Given the description of an element on the screen output the (x, y) to click on. 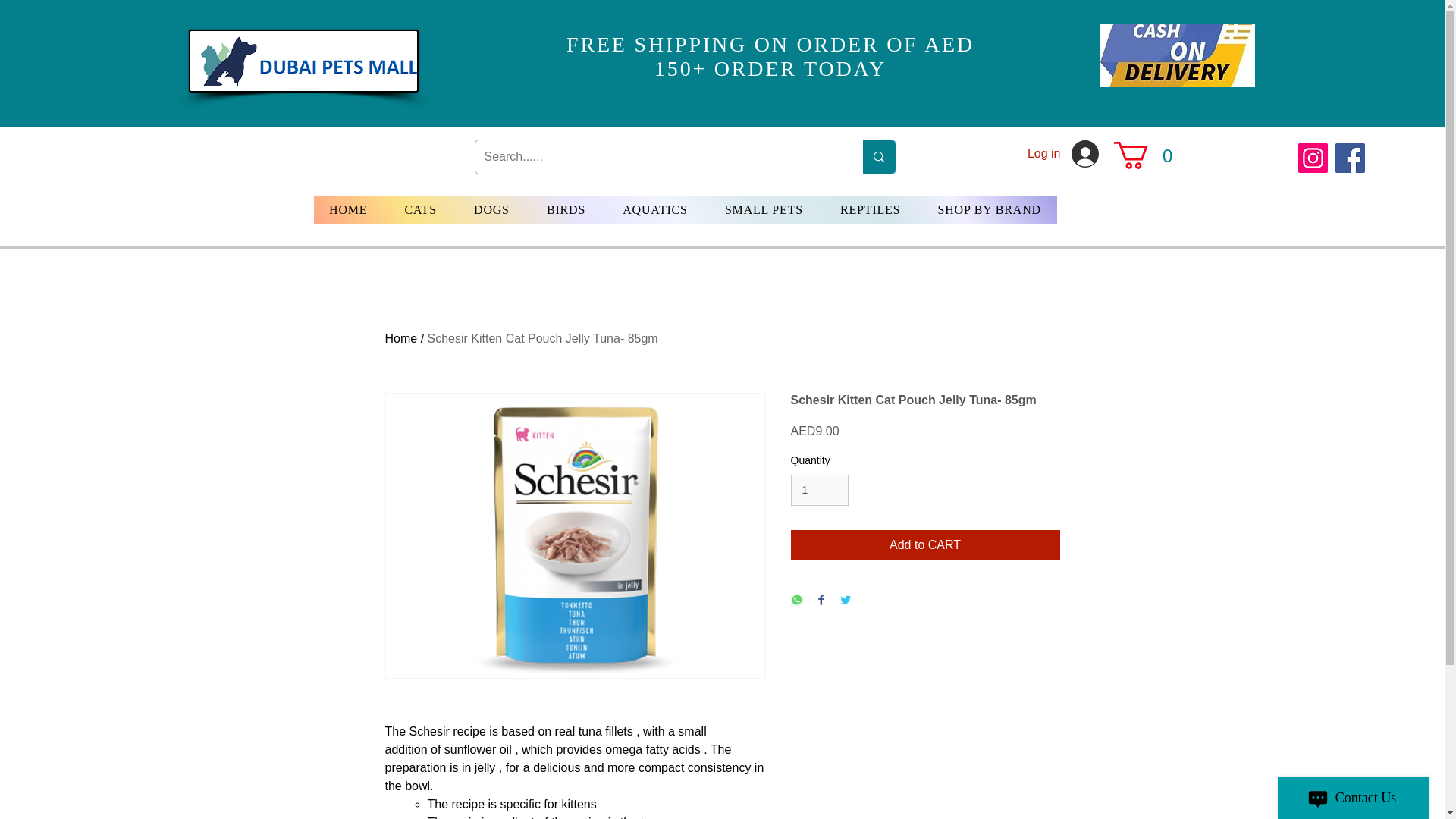
1 (818, 490)
DOGS (491, 209)
0 (1146, 154)
HOME (348, 209)
ORDER TODAY (800, 68)
0 (1146, 154)
BIRDS (565, 209)
Log in (1062, 153)
CATS (419, 209)
delivery.jpg (1176, 55)
